Given the description of an element on the screen output the (x, y) to click on. 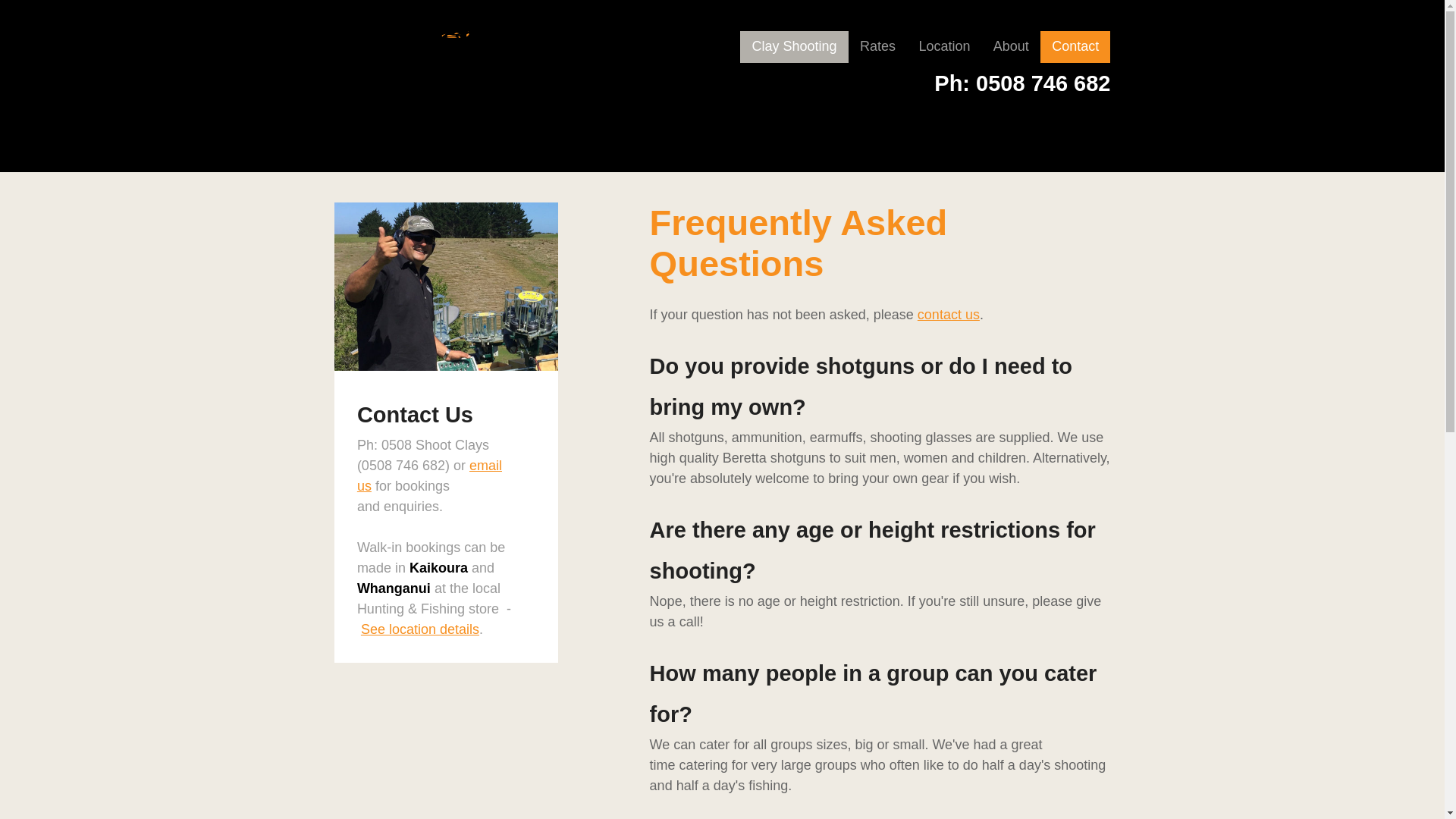
Rates (877, 47)
See location details (420, 629)
Clay Shooting (793, 47)
contact us (948, 314)
Location (944, 47)
email us (429, 475)
Contact (1075, 47)
About (1011, 47)
